Given the description of an element on the screen output the (x, y) to click on. 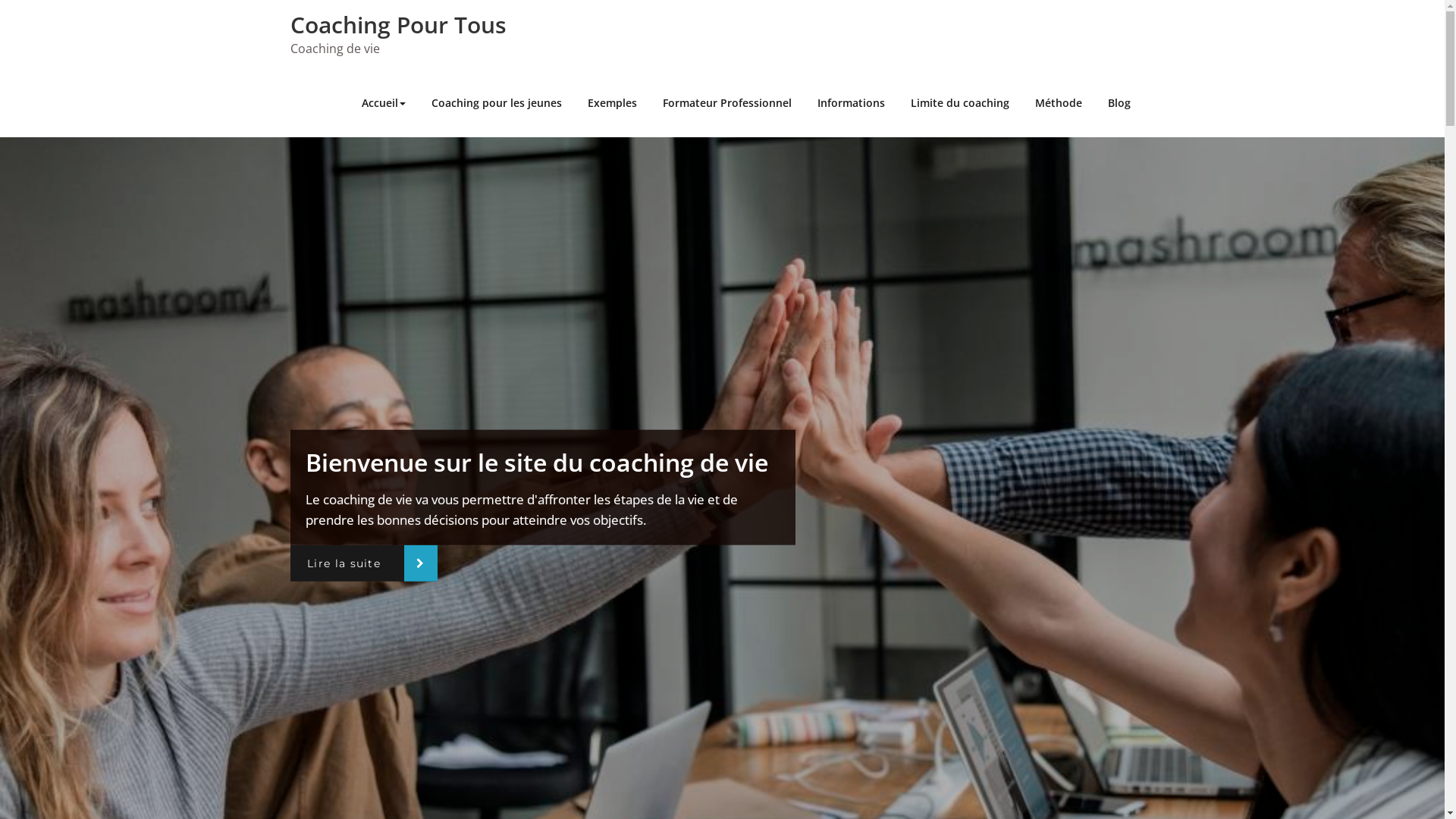
Lire la suite Element type: text (363, 563)
Skip to content Element type: text (0, 0)
Limite du coaching Element type: text (959, 103)
Informations Element type: text (850, 103)
Blog Element type: text (1119, 103)
Coaching pour les jeunes Element type: text (496, 103)
Formateur Professionnel Element type: text (726, 103)
Exemples Element type: text (611, 103)
Accueil Element type: text (383, 103)
Coaching Pour Tous Element type: text (397, 24)
